Given the description of an element on the screen output the (x, y) to click on. 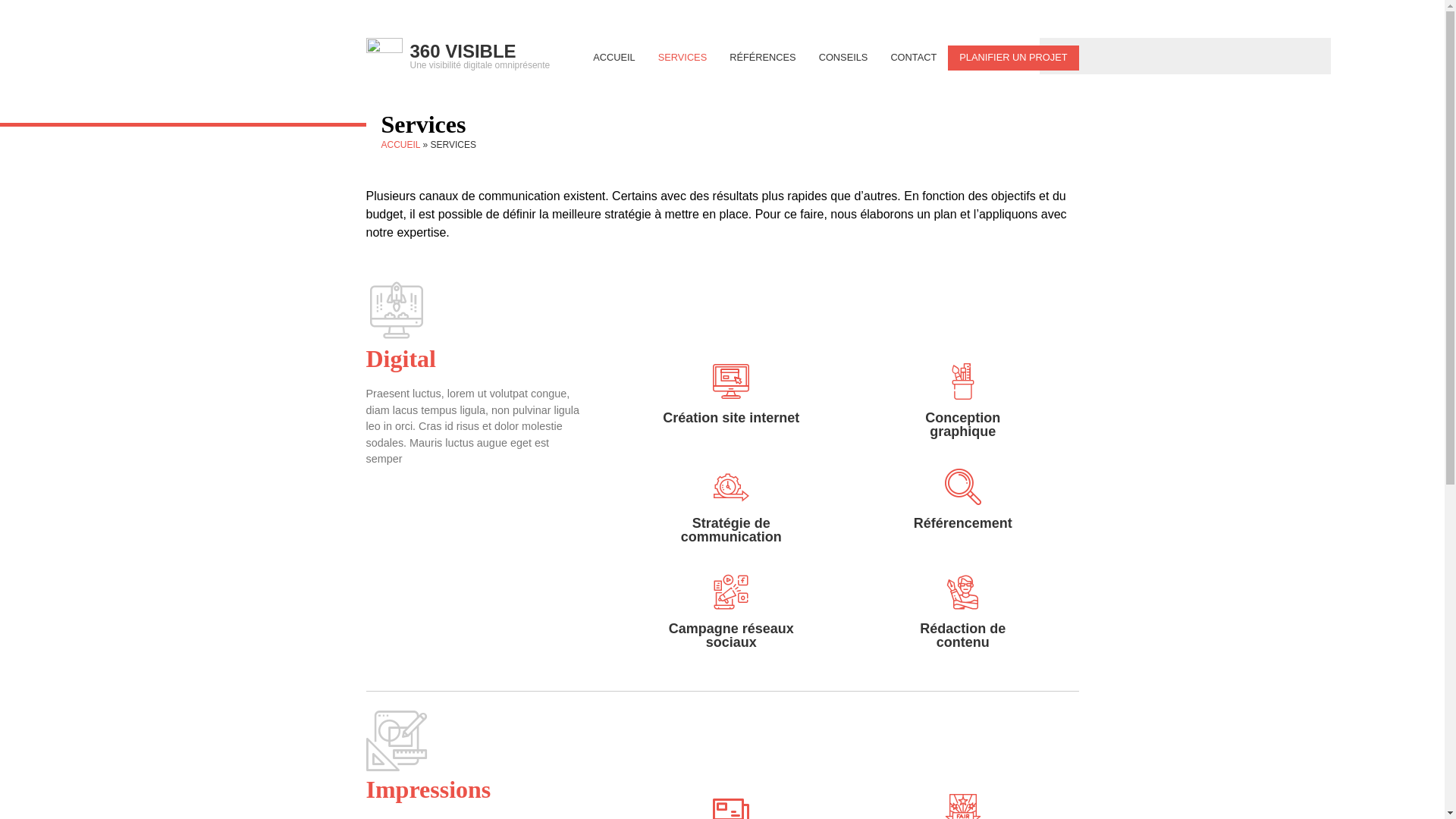
ACCUEIL Element type: text (613, 57)
CONSEILS Element type: text (843, 57)
360 VISIBLE Element type: text (462, 50)
ACCUEIL Element type: text (400, 144)
Aller au contenu principal Element type: text (688, 38)
CONTACT Element type: text (912, 57)
Digital Element type: text (400, 358)
SERVICES Element type: text (682, 57)
Impressions Element type: text (427, 789)
PLANIFIER UN PROJET Element type: text (1012, 57)
Conception graphique Element type: text (962, 424)
